Given the description of an element on the screen output the (x, y) to click on. 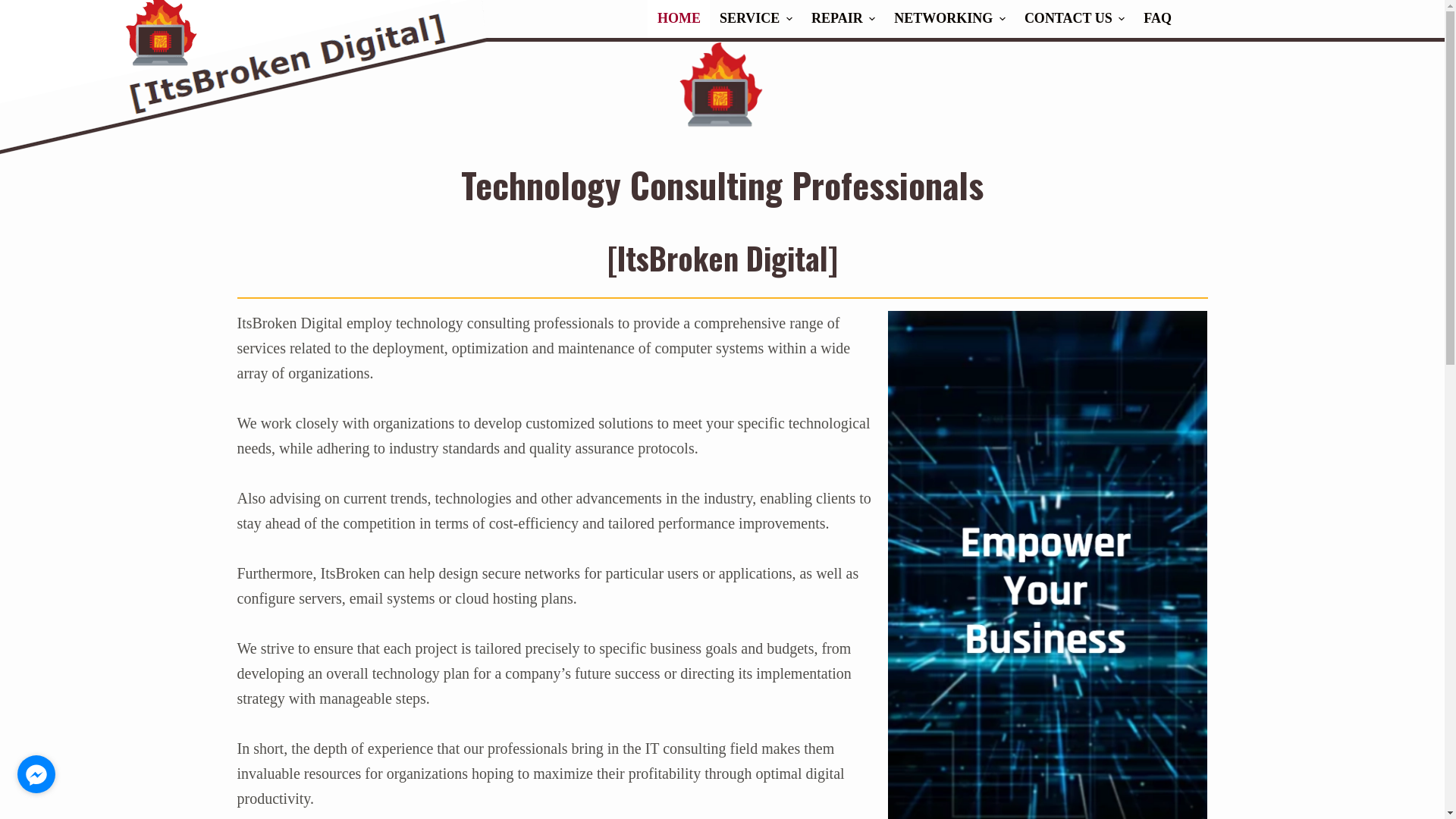
REPAIR Element type: text (842, 18)
NETWORKING Element type: text (949, 18)
SERVICE Element type: text (755, 18)
HOME Element type: text (678, 18)
CONTACT US Element type: text (1073, 18)
FAQ Element type: text (1157, 18)
Skip to content Element type: text (15, 7)
